Given the description of an element on the screen output the (x, y) to click on. 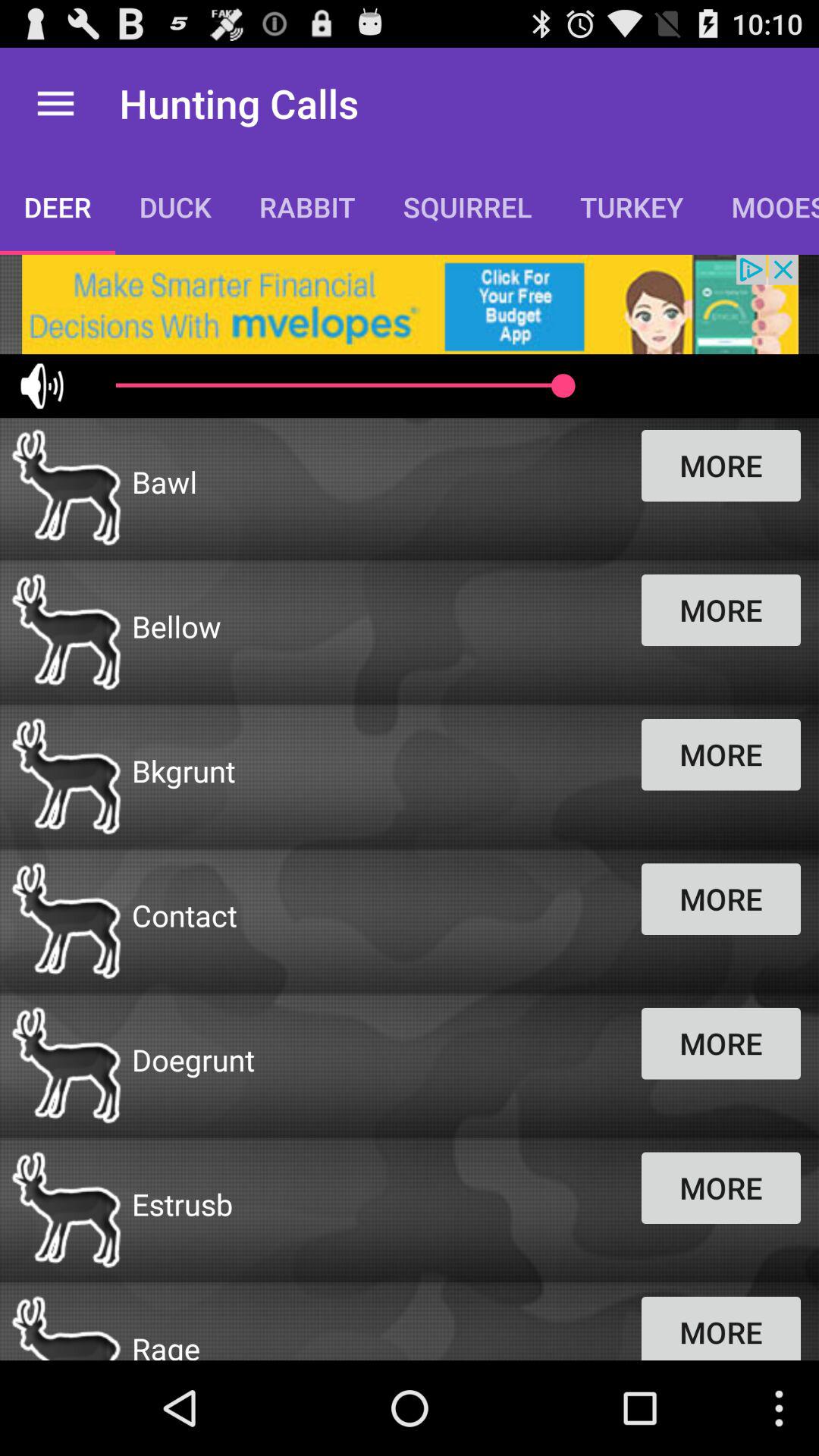
advertisement area (409, 304)
